Given the description of an element on the screen output the (x, y) to click on. 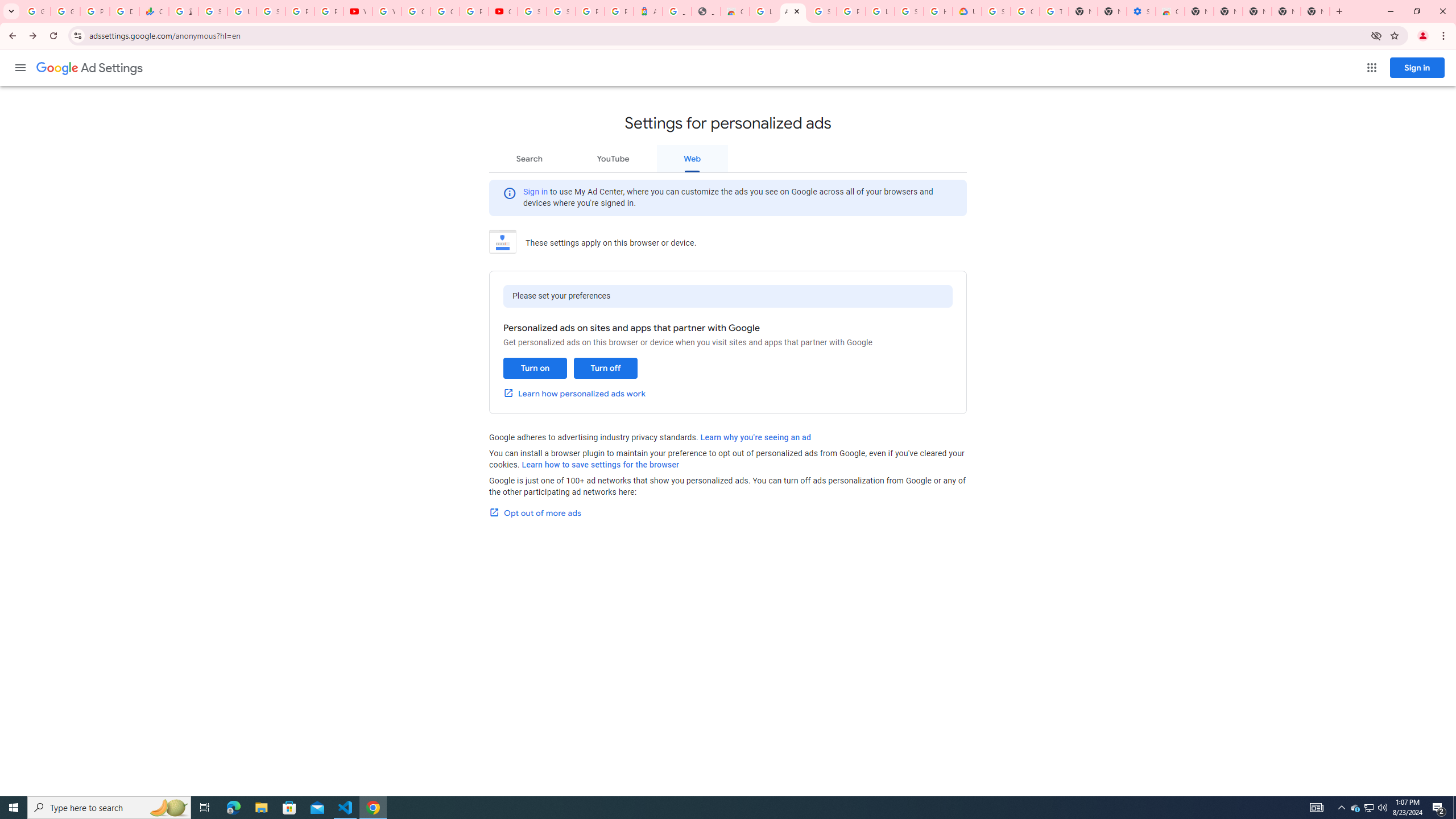
Ad Settings (792, 11)
Turn ads based on your interests off. (605, 367)
Google Account Help (1025, 11)
Turn cookies on or off - Computer - Google Account Help (1054, 11)
YouTube (612, 157)
New Tab (1338, 11)
Main menu (20, 67)
Sign in - Google Accounts (821, 11)
Ad Settings (89, 68)
Turn ads based on your interests on. (534, 367)
Sign in - Google Accounts (996, 11)
